Given the description of an element on the screen output the (x, y) to click on. 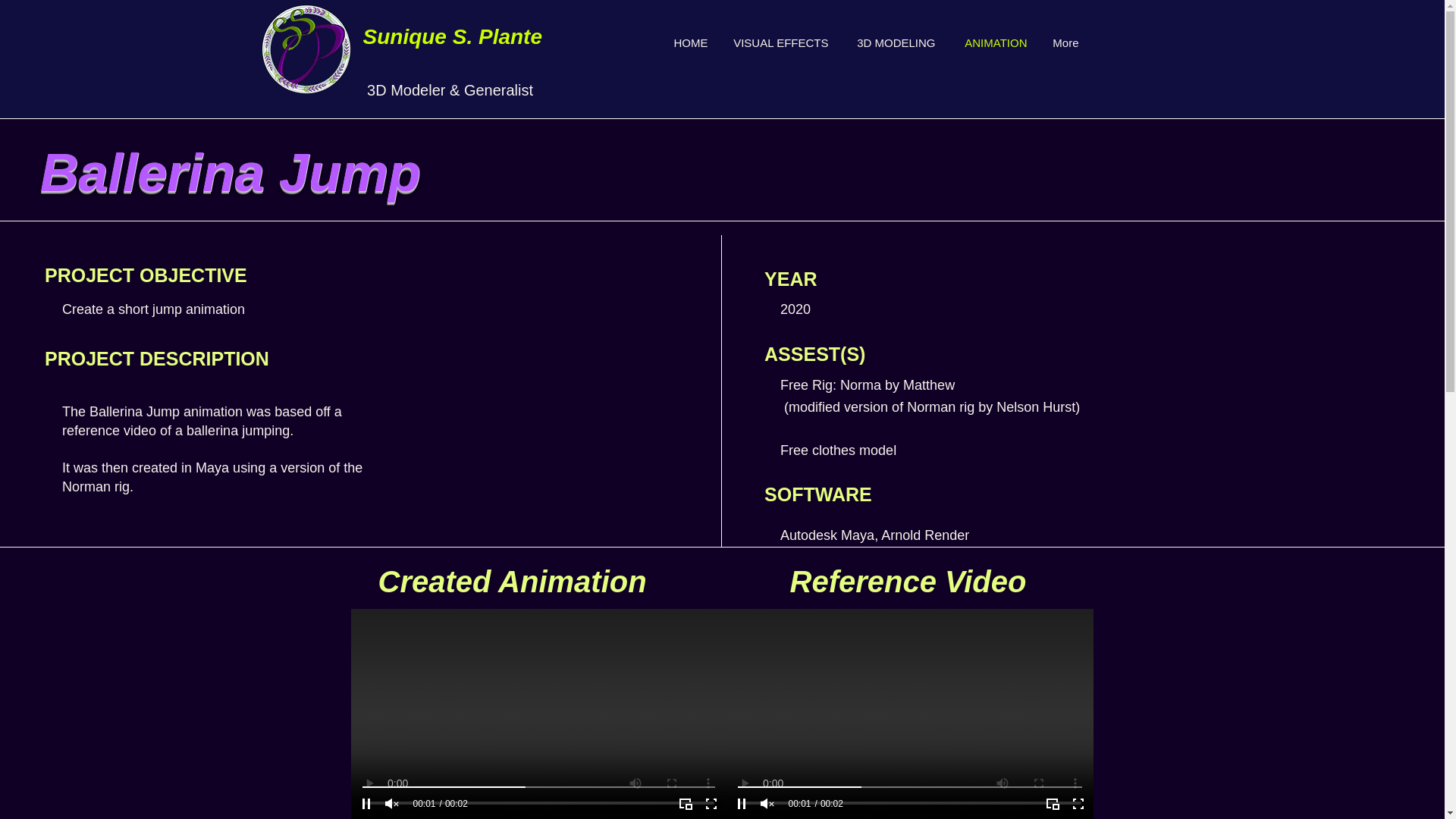
HOME (689, 42)
VISUAL EFFECTS (779, 42)
Sunique S. Plante (451, 36)
3D MODELING (893, 42)
